Given the description of an element on the screen output the (x, y) to click on. 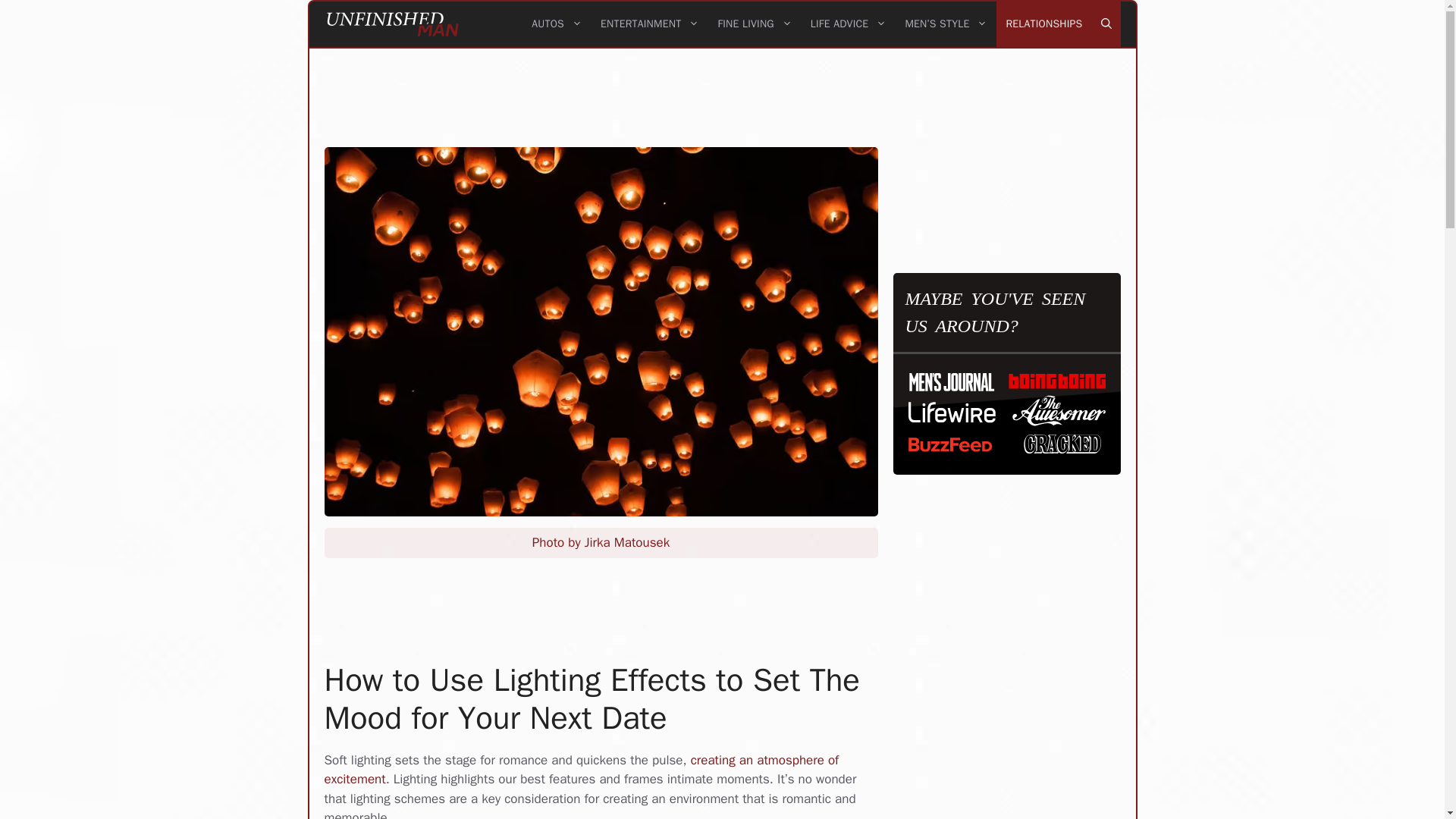
ENTERTAINMENT (649, 23)
Unfinished Man (392, 23)
AUTOS (556, 23)
